Given the description of an element on the screen output the (x, y) to click on. 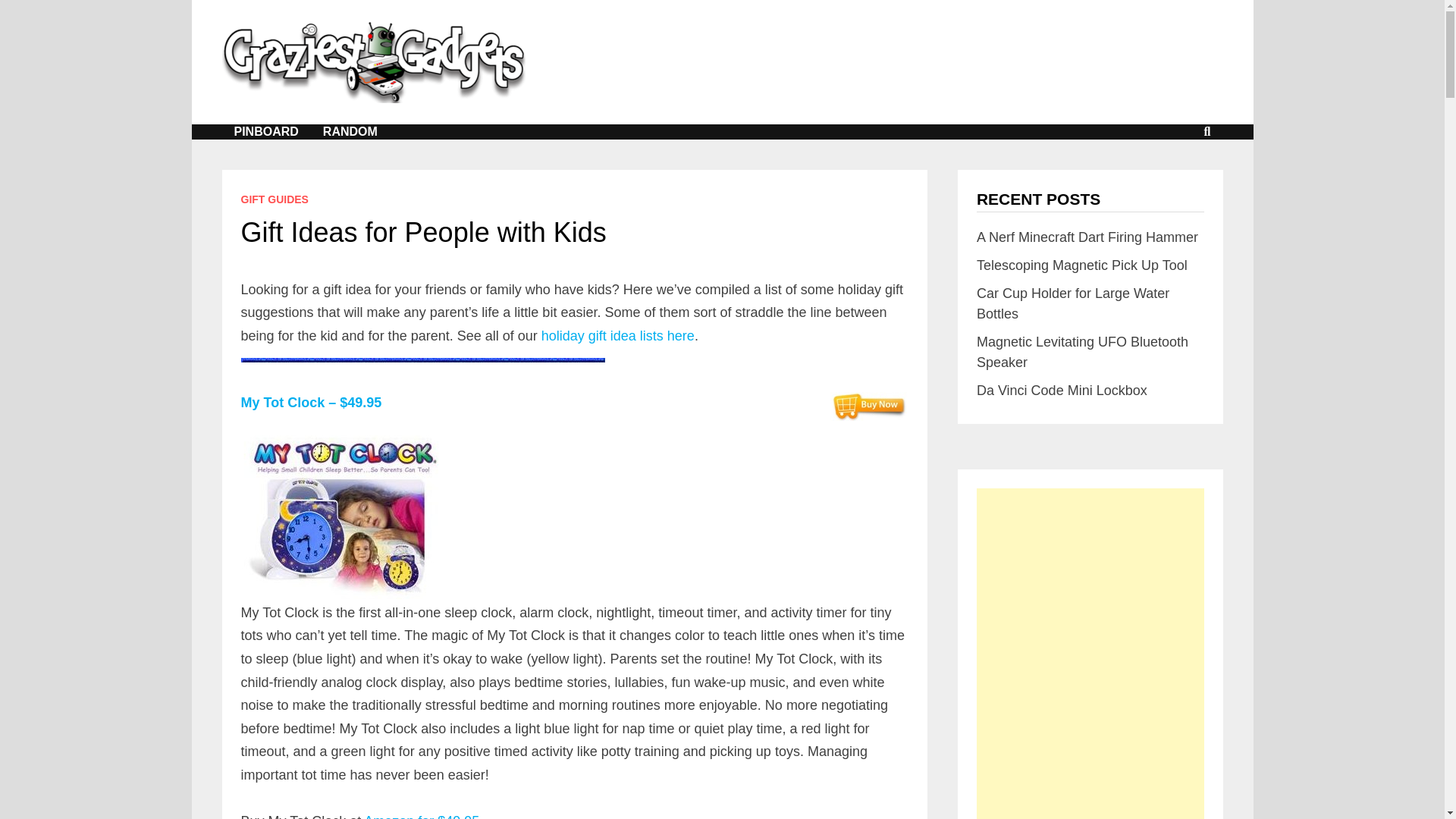
tot clock (340, 517)
holiday gift idea lists here (617, 335)
GIFT GUIDES (274, 199)
PINBOARD (265, 131)
RANDOM (350, 131)
